Given the description of an element on the screen output the (x, y) to click on. 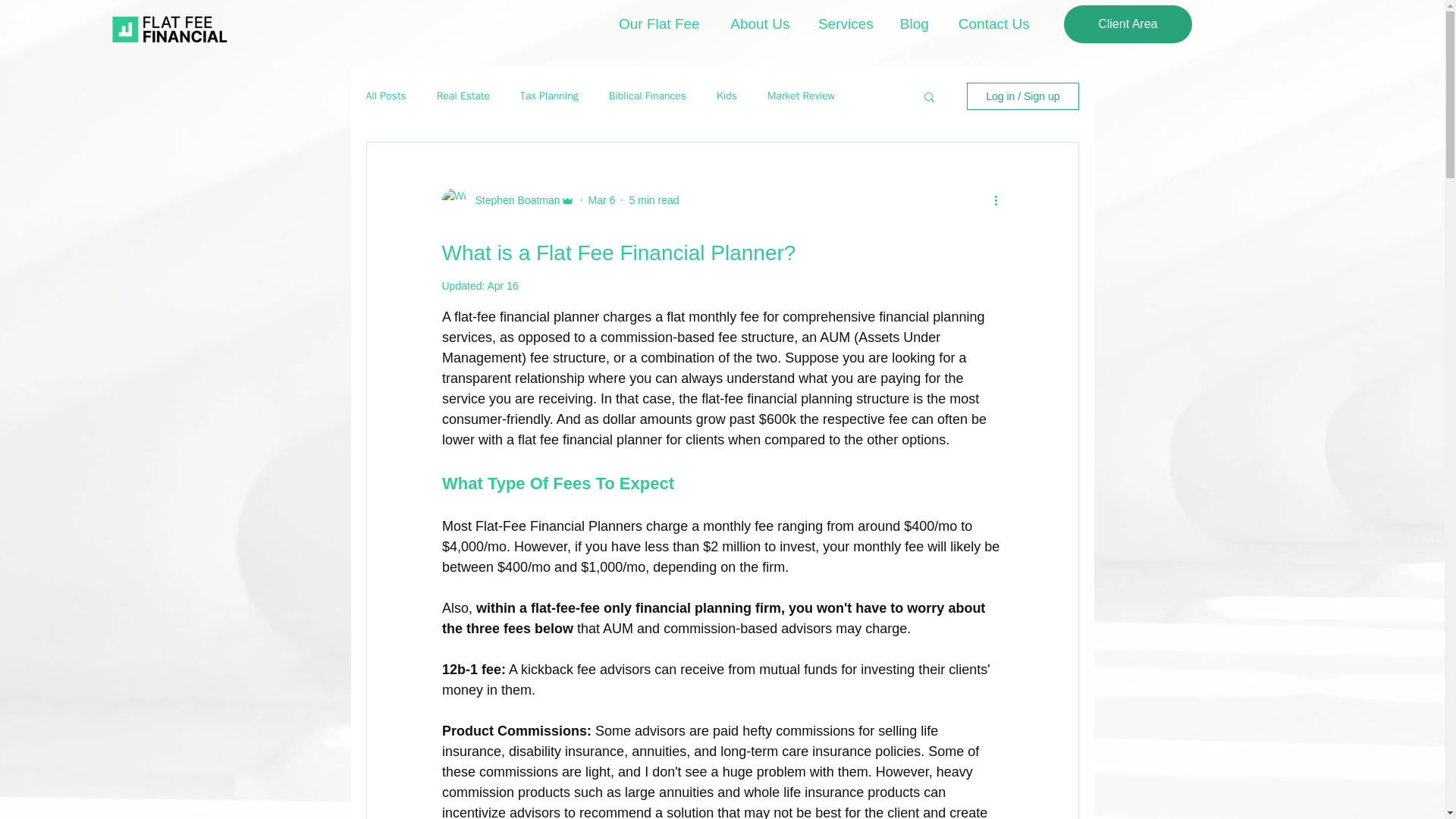
Market Review (800, 96)
Mar 6 (601, 200)
Blog (914, 24)
Apr 16 (502, 285)
Our Flat Fee (659, 24)
All Posts (385, 96)
About Us (759, 24)
Tax Planning (548, 96)
Client Area (1128, 23)
5 min read (653, 200)
